Given the description of an element on the screen output the (x, y) to click on. 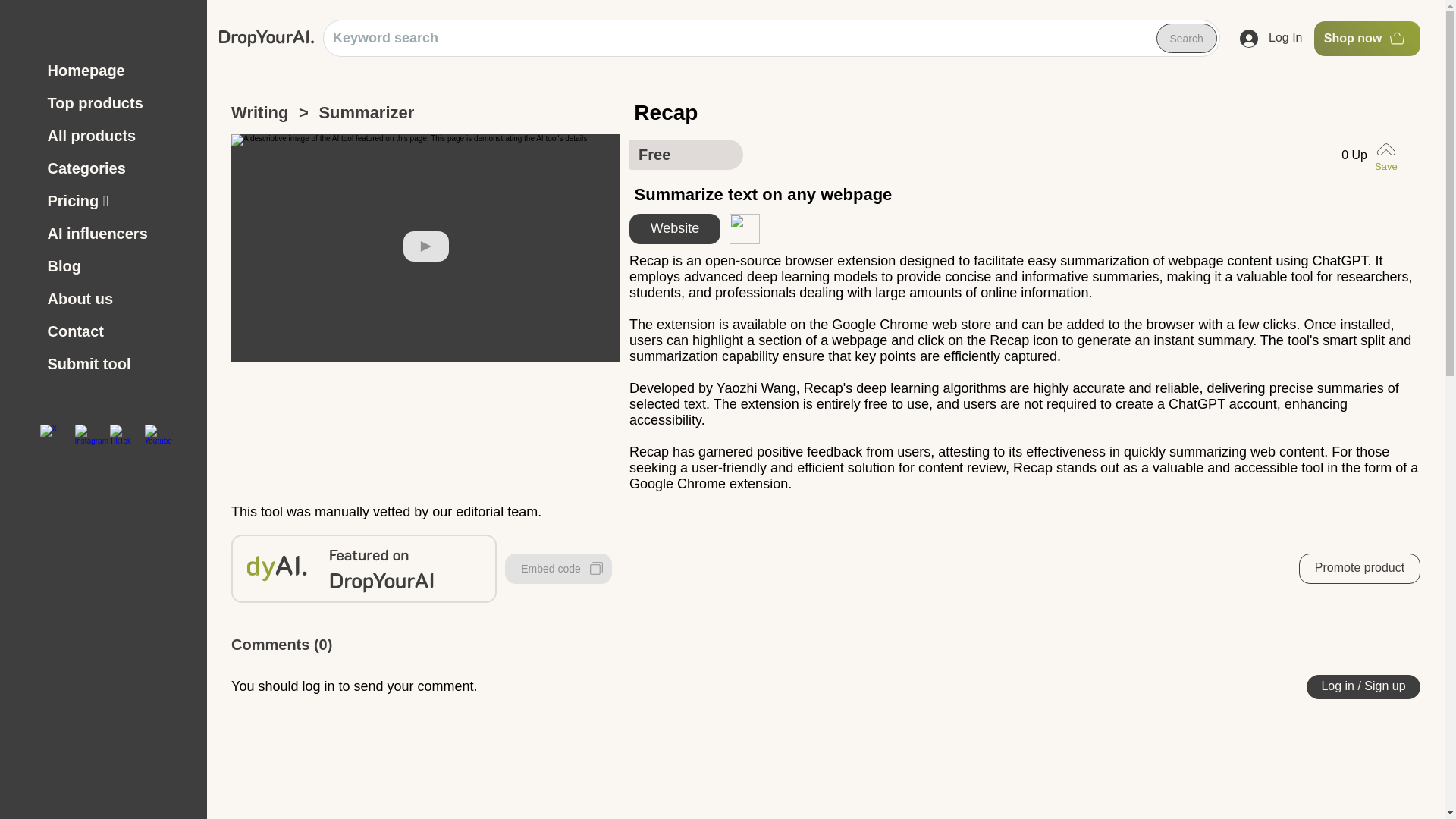
Homepage (117, 70)
Embed code (558, 568)
AI influencers (117, 233)
Submit tool (117, 364)
About us (117, 298)
Log In (1270, 38)
Blog (117, 266)
All products (117, 135)
Save (1388, 155)
Categories (117, 168)
